Given the description of an element on the screen output the (x, y) to click on. 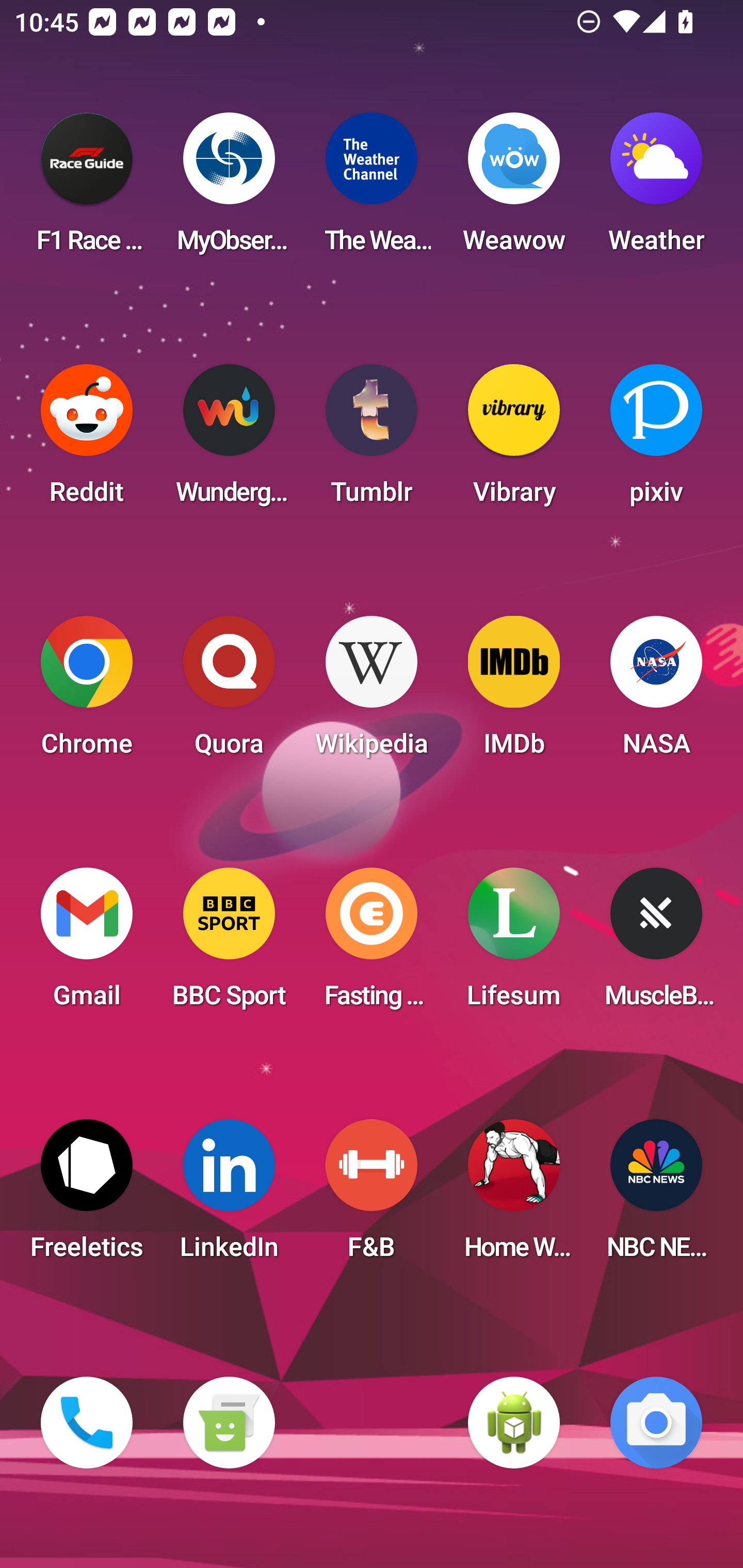
F1 Race Guide (86, 188)
MyObservatory (228, 188)
The Weather Channel (371, 188)
Weawow (513, 188)
Weather (656, 188)
Reddit (86, 440)
Wunderground (228, 440)
Tumblr (371, 440)
Vibrary (513, 440)
pixiv (656, 440)
Chrome (86, 692)
Quora (228, 692)
Wikipedia (371, 692)
IMDb (513, 692)
NASA (656, 692)
Gmail (86, 943)
BBC Sport (228, 943)
Fasting Coach (371, 943)
Lifesum (513, 943)
MuscleBooster (656, 943)
Freeletics (86, 1195)
LinkedIn (228, 1195)
F&B (371, 1195)
Home Workout (513, 1195)
NBC NEWS (656, 1195)
Phone (86, 1422)
Messaging (228, 1422)
WebView Browser Tester (513, 1422)
Camera (656, 1422)
